Given the description of an element on the screen output the (x, y) to click on. 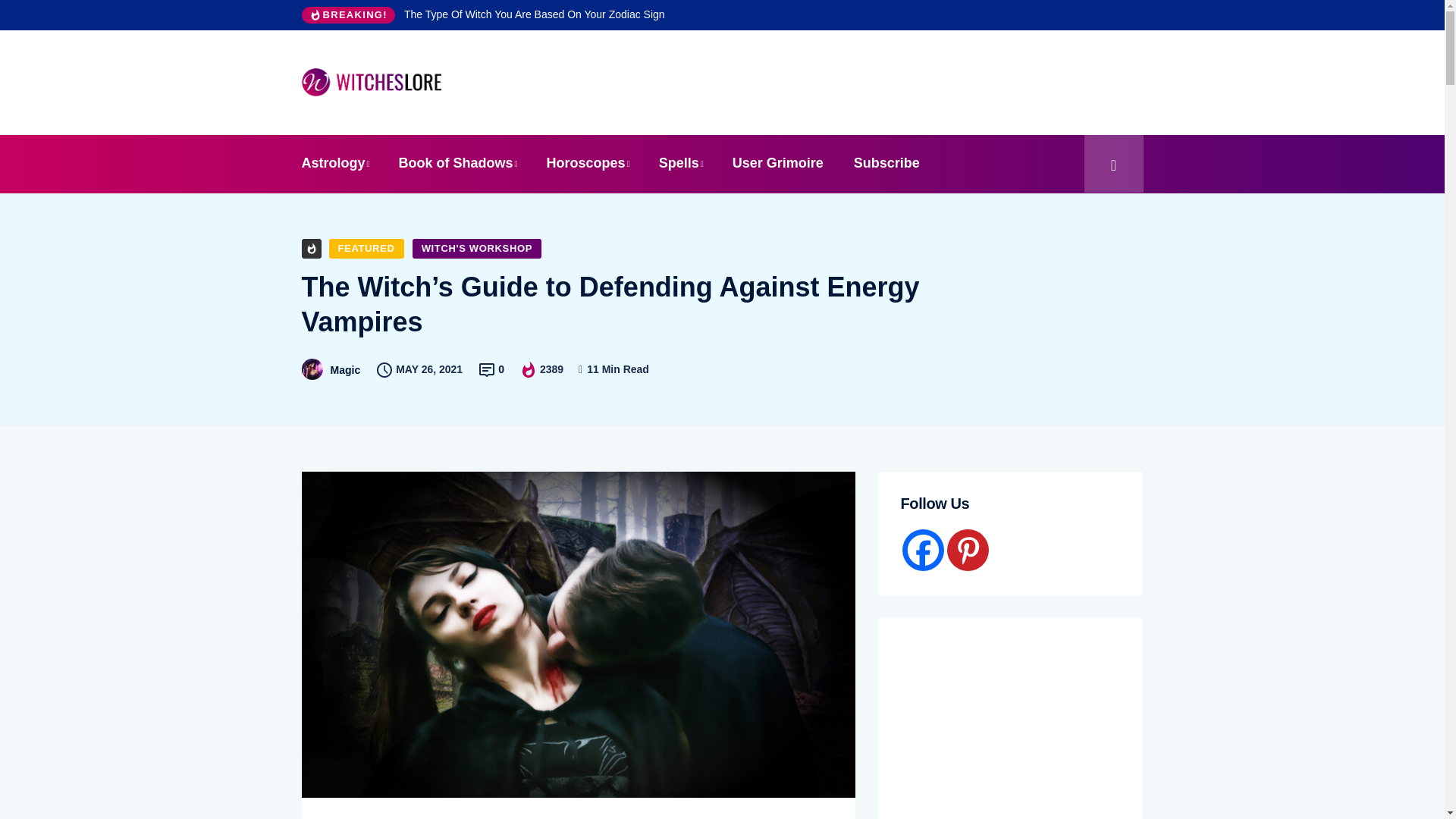
Advertisement (824, 79)
The Type Of Witch You Are Based On Your Zodiac Sign (534, 14)
